Given the description of an element on the screen output the (x, y) to click on. 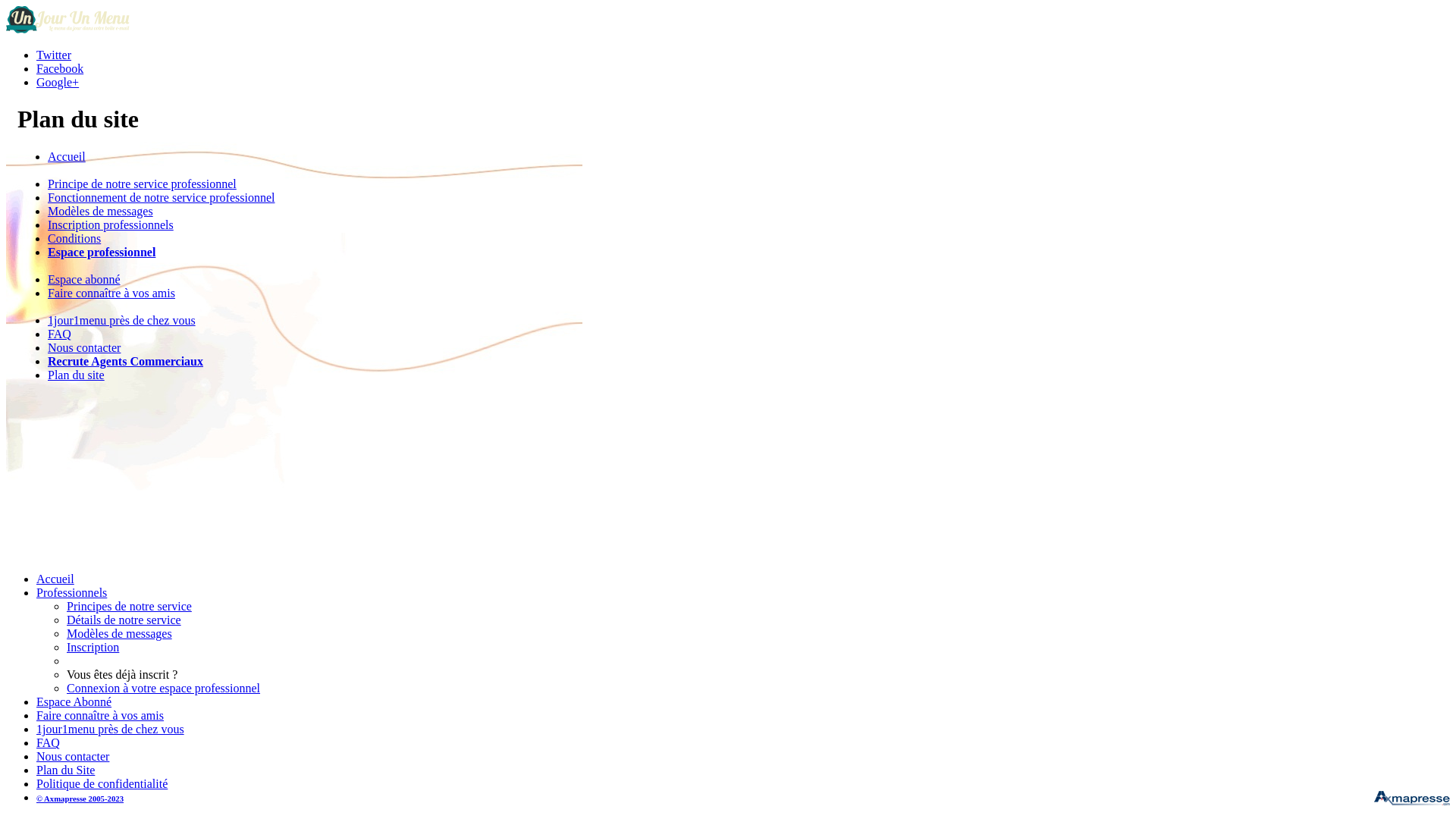
FAQ Element type: text (59, 333)
Inscription professionnels Element type: text (110, 224)
Accueil Element type: text (66, 156)
Nous contacter Element type: text (72, 755)
Nous contacter Element type: text (83, 347)
Twitter Element type: text (53, 54)
Facebook Element type: text (59, 68)
FAQ Element type: text (47, 742)
Professionnels Element type: text (71, 592)
Accueil Element type: text (55, 578)
Principe de notre service professionnel Element type: text (141, 183)
Principes de notre service Element type: text (128, 605)
Recrute Agents Commerciaux Element type: text (125, 360)
Espace professionnel Element type: text (101, 251)
Inscription Element type: text (92, 646)
Plan du site Element type: text (75, 374)
Google+ Element type: text (57, 81)
Conditions Element type: text (73, 238)
Plan du Site Element type: text (65, 769)
Fonctionnement de notre service professionnel Element type: text (160, 197)
